Given the description of an element on the screen output the (x, y) to click on. 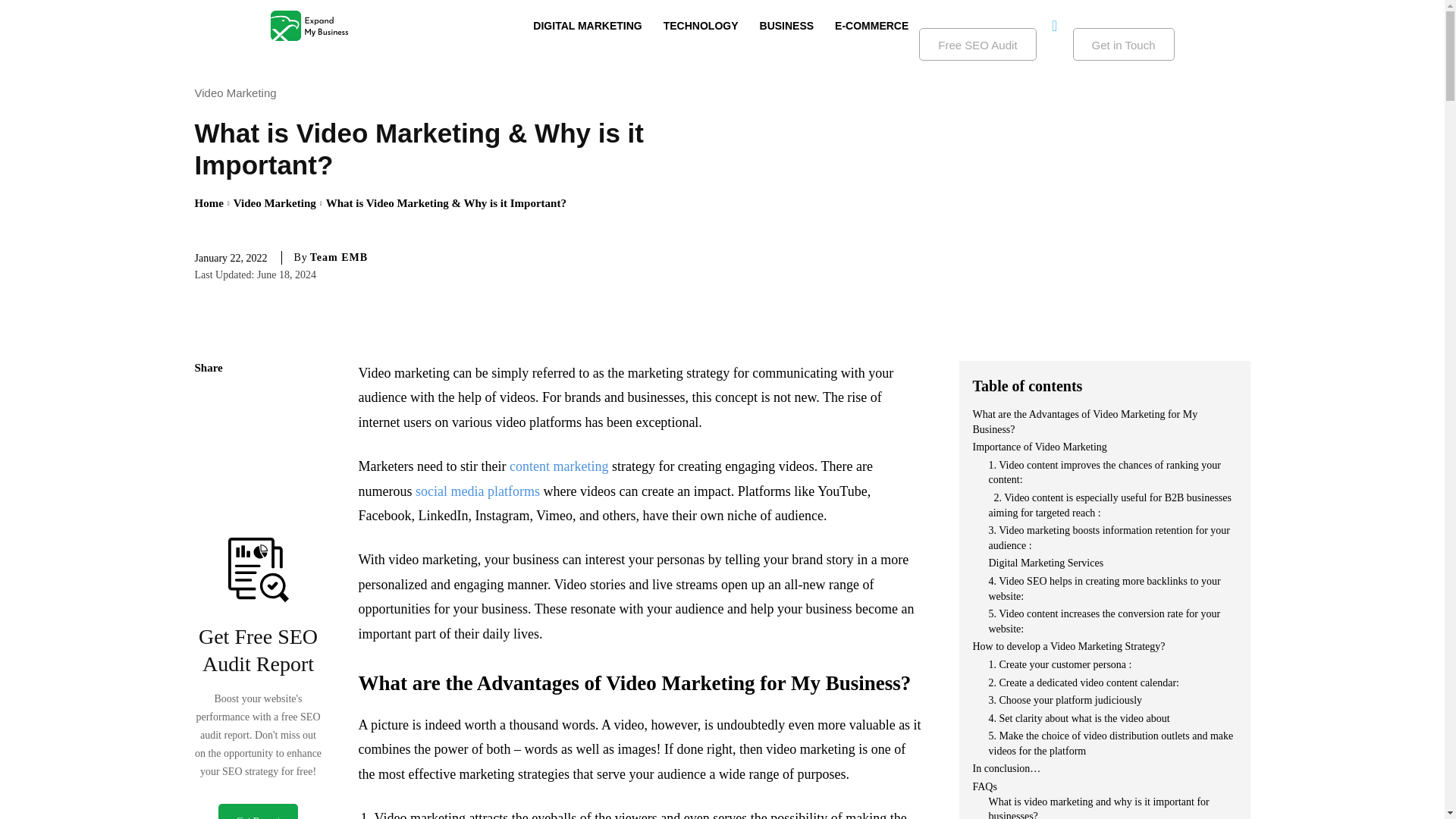
Get in Touch (1123, 43)
Free SEO Audit (977, 43)
Team EMB (339, 257)
Get Report (258, 811)
E-COMMERCE (871, 25)
BUSINESS (787, 25)
DIGITAL MARKETING (587, 25)
Get in Touch (1123, 43)
Get Report (258, 811)
content marketing (558, 466)
